Given the description of an element on the screen output the (x, y) to click on. 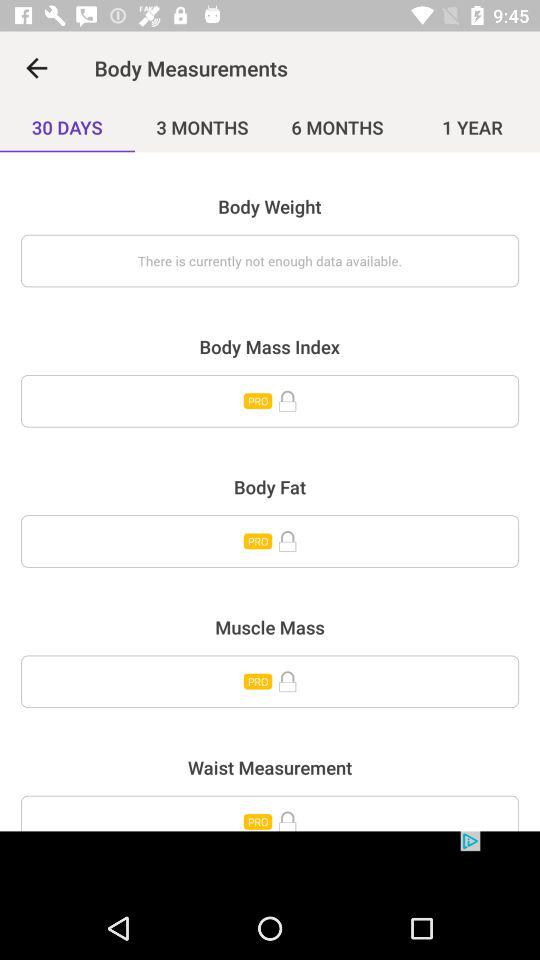
enter muscle mass information (269, 681)
